Given the description of an element on the screen output the (x, y) to click on. 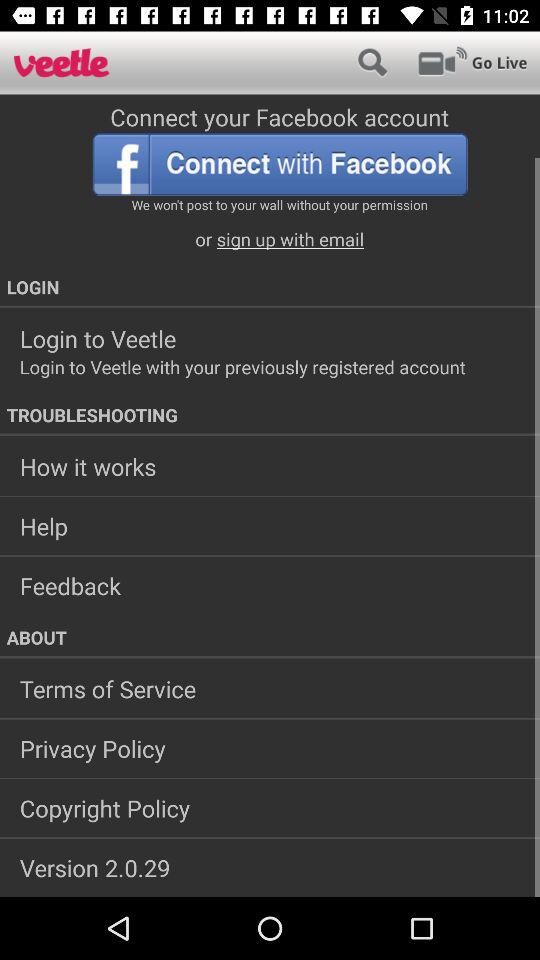
search option (372, 62)
